Given the description of an element on the screen output the (x, y) to click on. 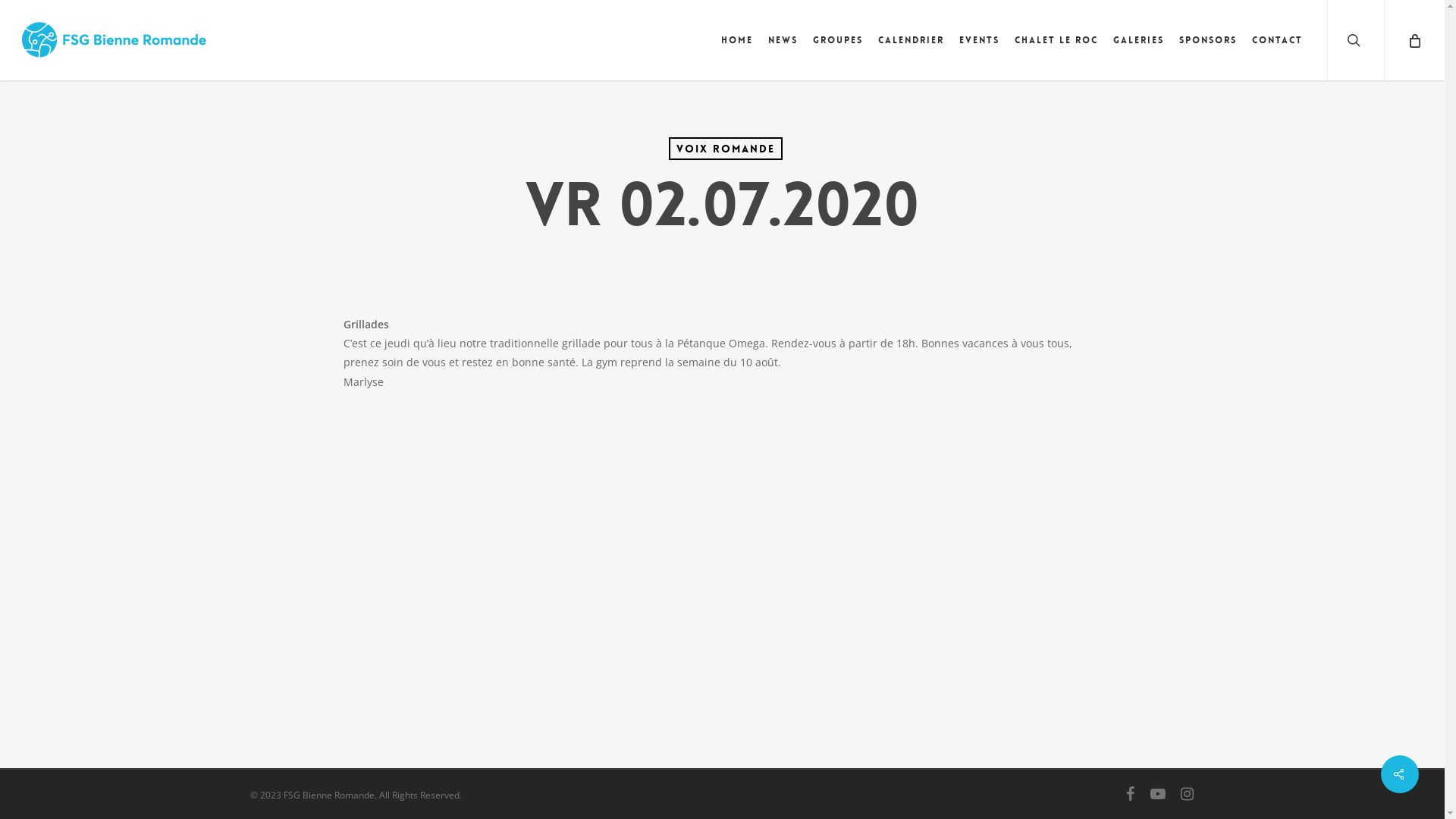
Galeries Element type: text (1138, 39)
Events Element type: text (979, 39)
News Element type: text (782, 39)
facebook Element type: text (1130, 793)
Contact Element type: text (1277, 39)
Calendrier Element type: text (910, 39)
Sponsors Element type: text (1207, 39)
youtube Element type: text (1158, 793)
Home Element type: text (736, 39)
Voix Romande Element type: text (725, 148)
Chalet Le Roc Element type: text (1056, 39)
instagram Element type: text (1187, 793)
search Element type: text (1355, 40)
Groupes Element type: text (837, 39)
